Given the description of an element on the screen output the (x, y) to click on. 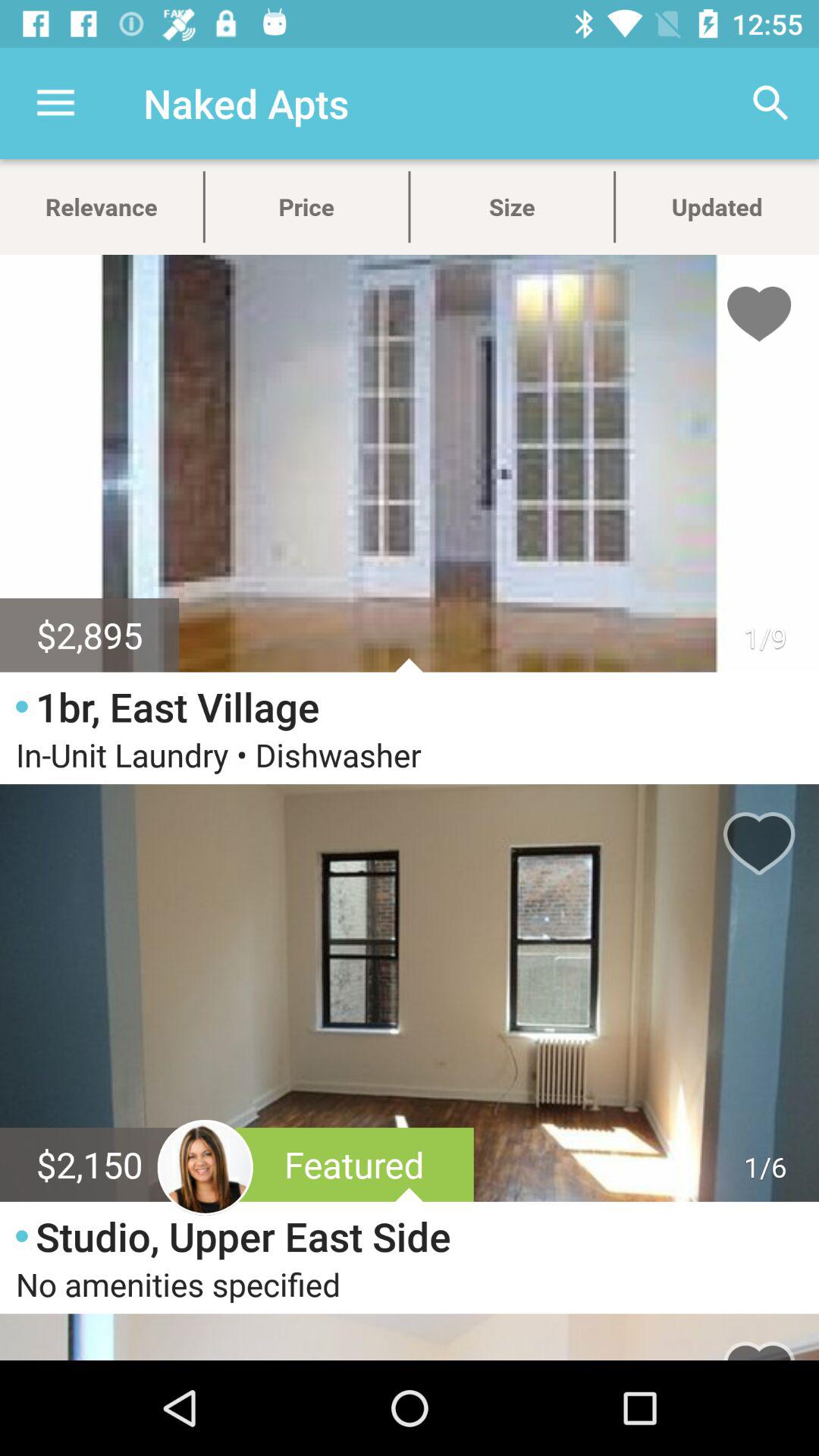
turn off item to the left of the naked apts icon (55, 103)
